Given the description of an element on the screen output the (x, y) to click on. 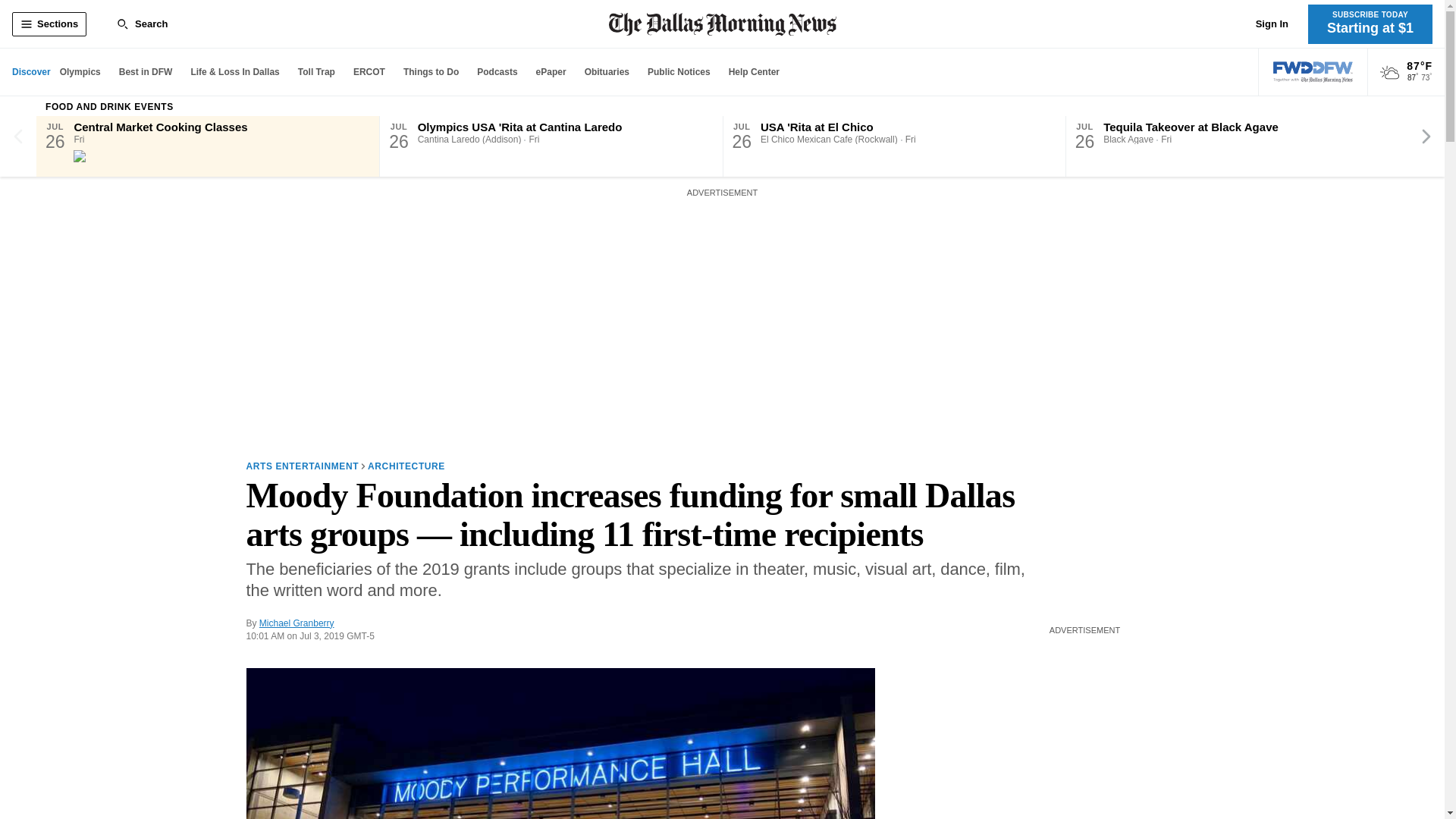
FWD DFW, Together with The Dallas Morning News (1313, 72)
Broken clouds (1389, 72)
